Given the description of an element on the screen output the (x, y) to click on. 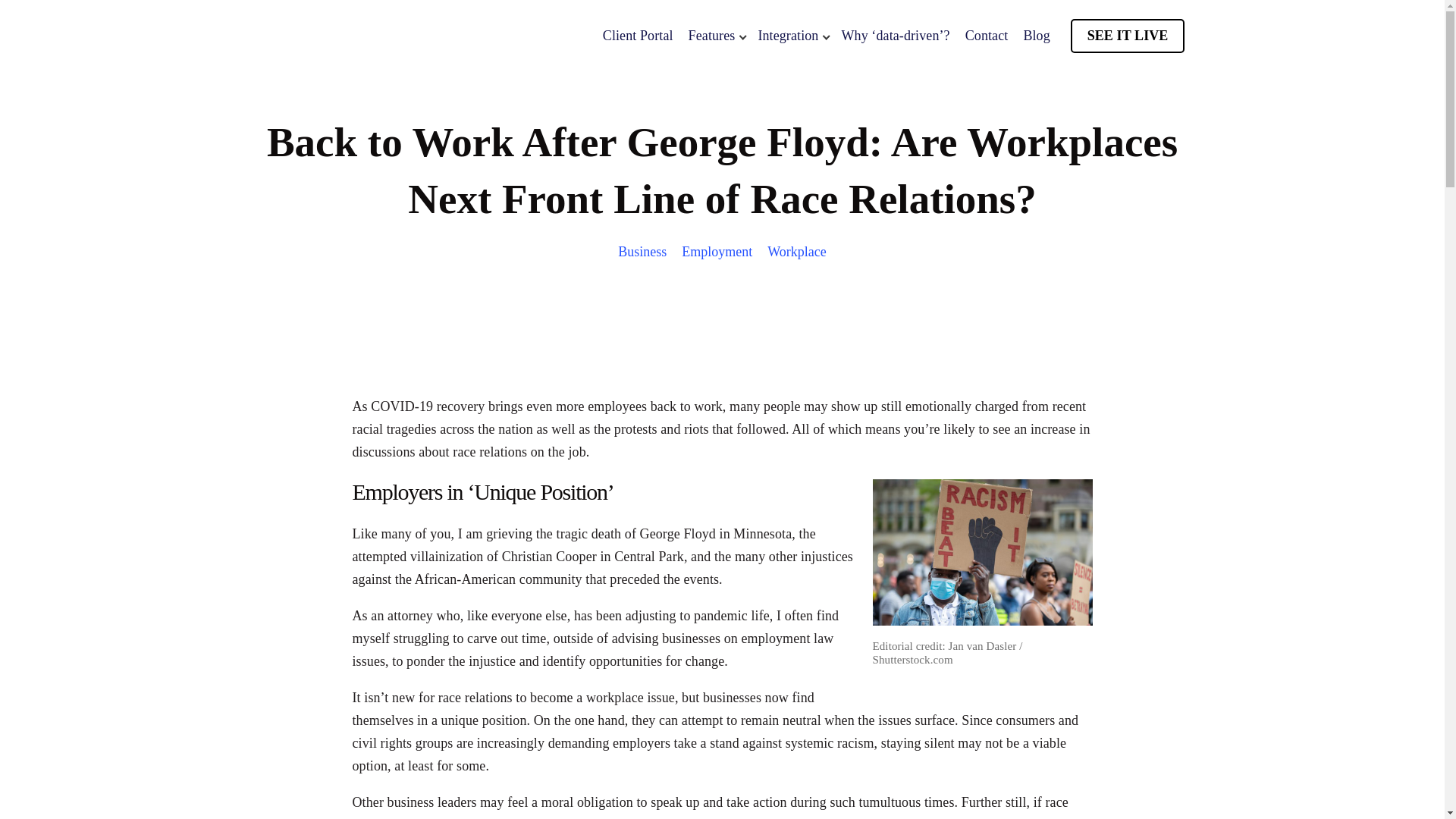
Blog (1036, 35)
Client Portal (637, 35)
SEE IT LIVE (1127, 35)
Features (715, 35)
Integration (791, 35)
Contact (987, 35)
